Given the description of an element on the screen output the (x, y) to click on. 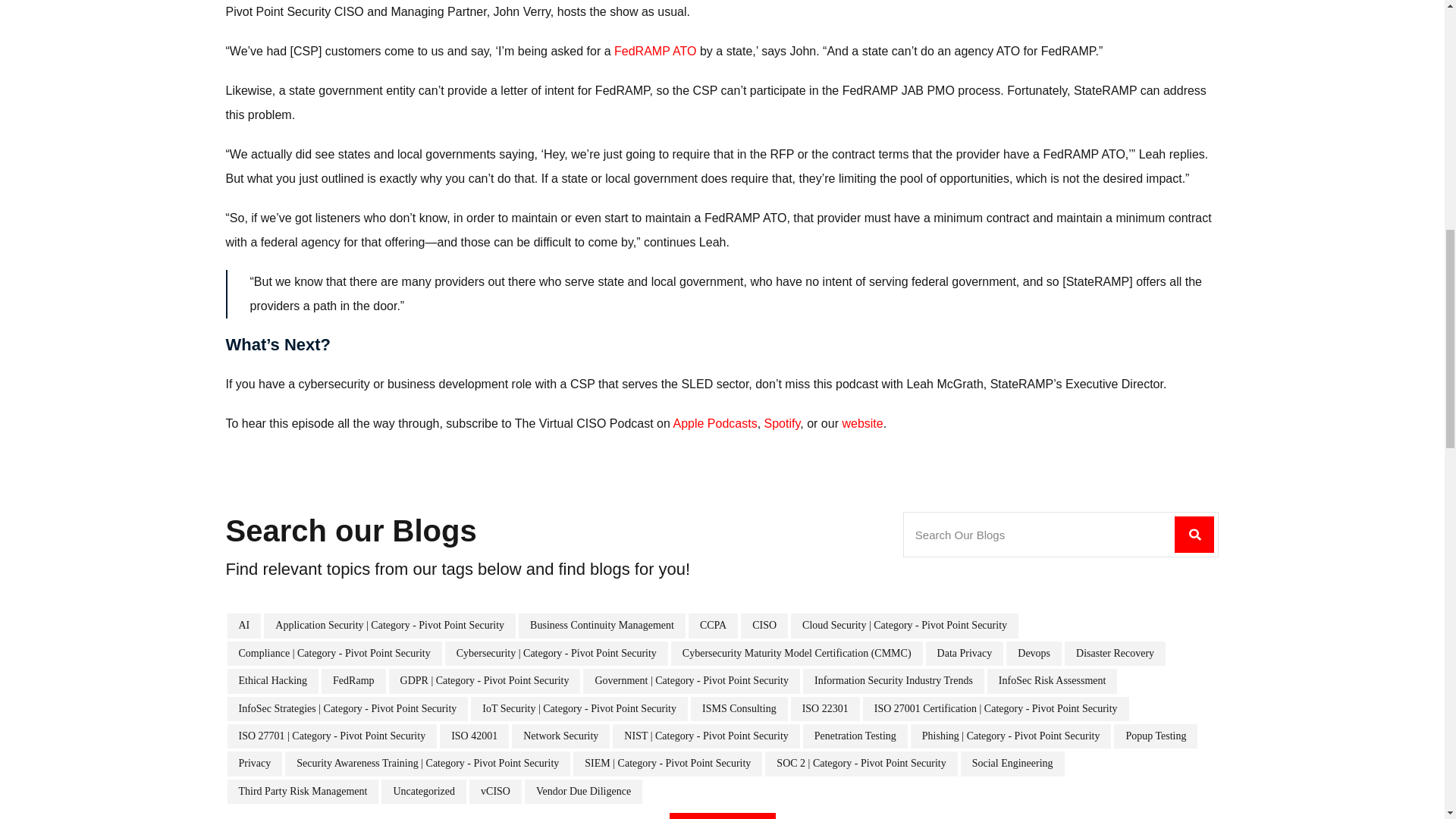
Search (721, 816)
